Given the description of an element on the screen output the (x, y) to click on. 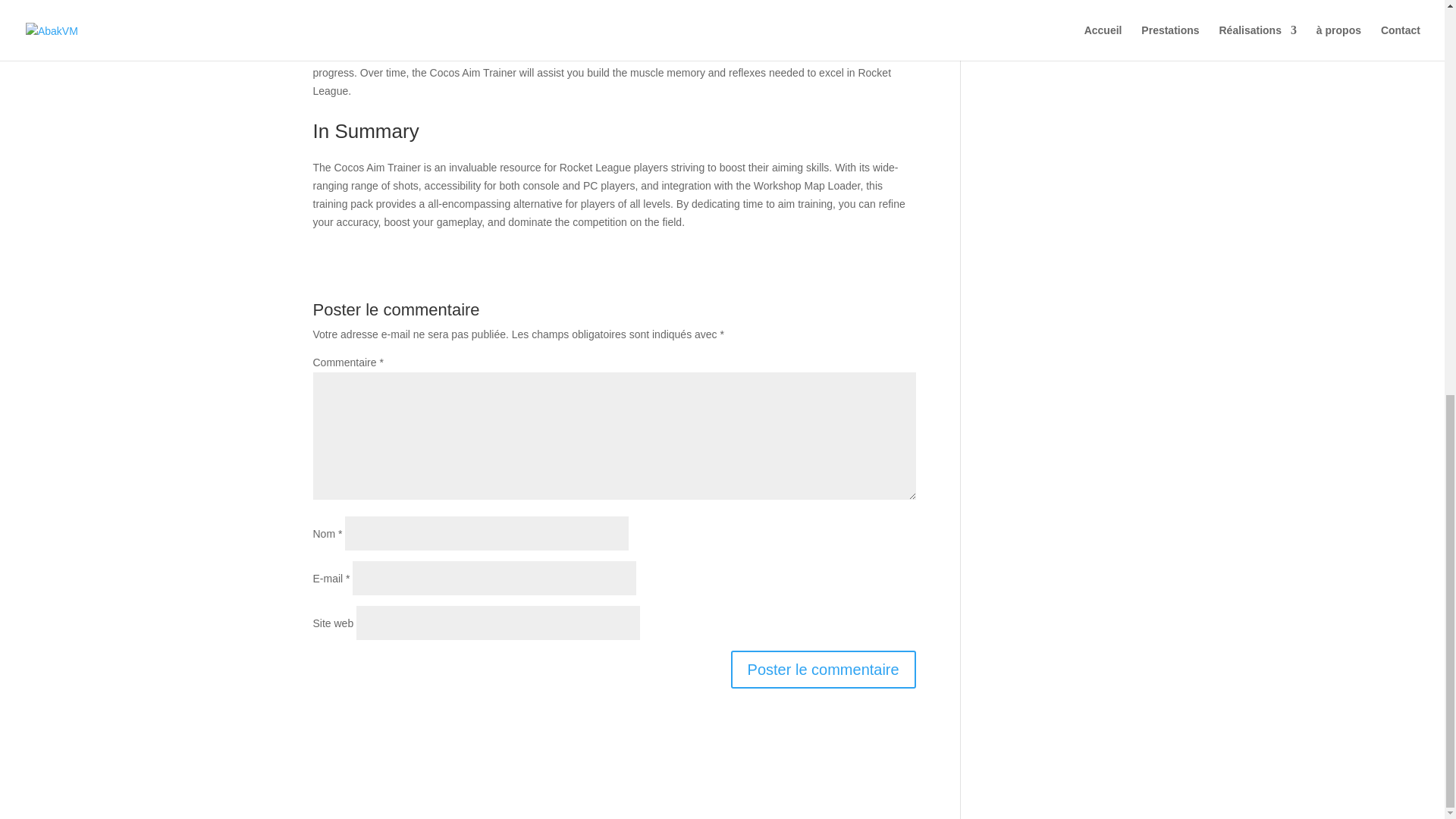
Poster le commentaire (822, 669)
aim training sessions (484, 3)
Poster le commentaire (822, 669)
